Given the description of an element on the screen output the (x, y) to click on. 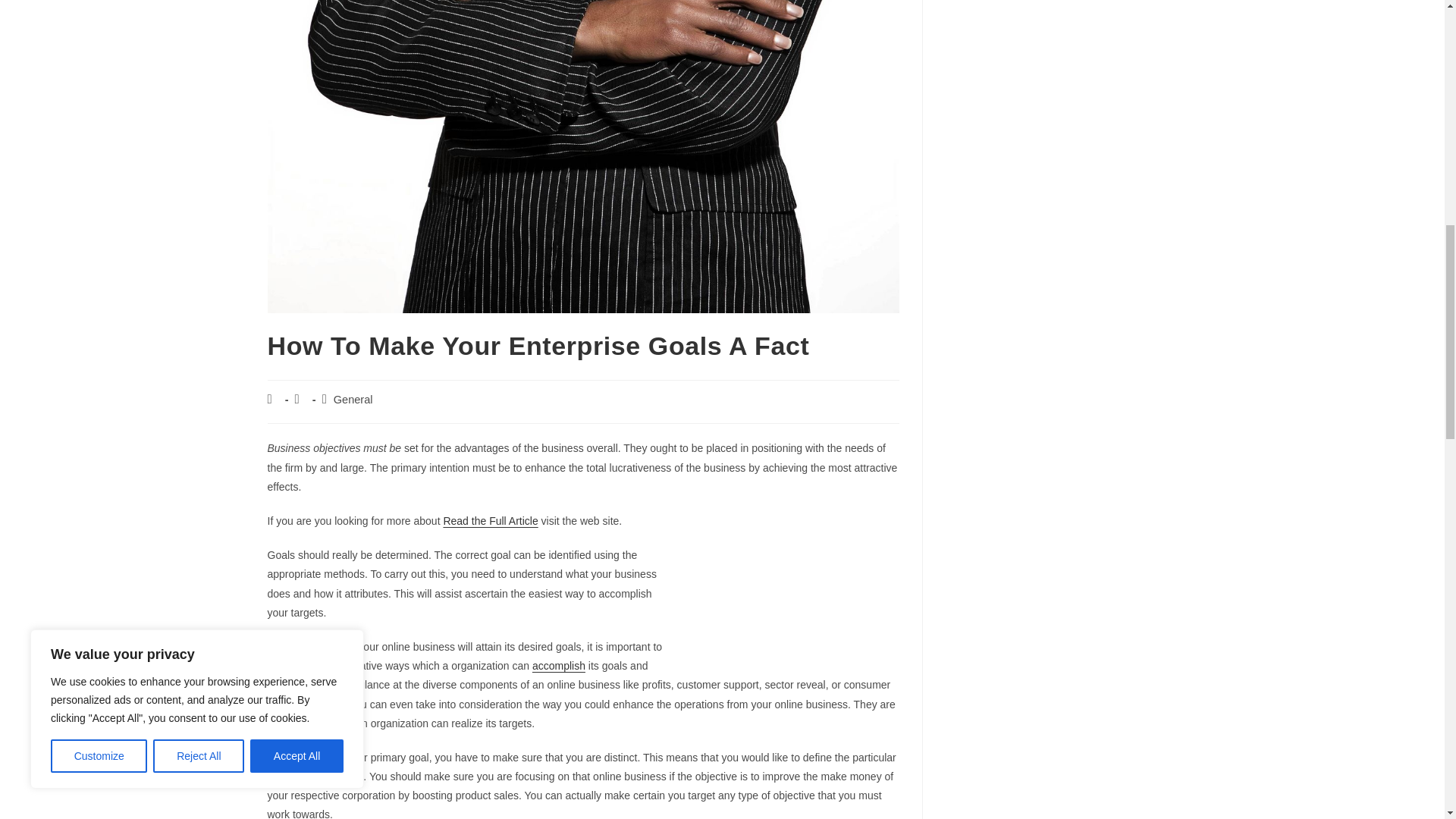
Read the Full Article (489, 521)
accomplish (558, 665)
General (352, 399)
